Given the description of an element on the screen output the (x, y) to click on. 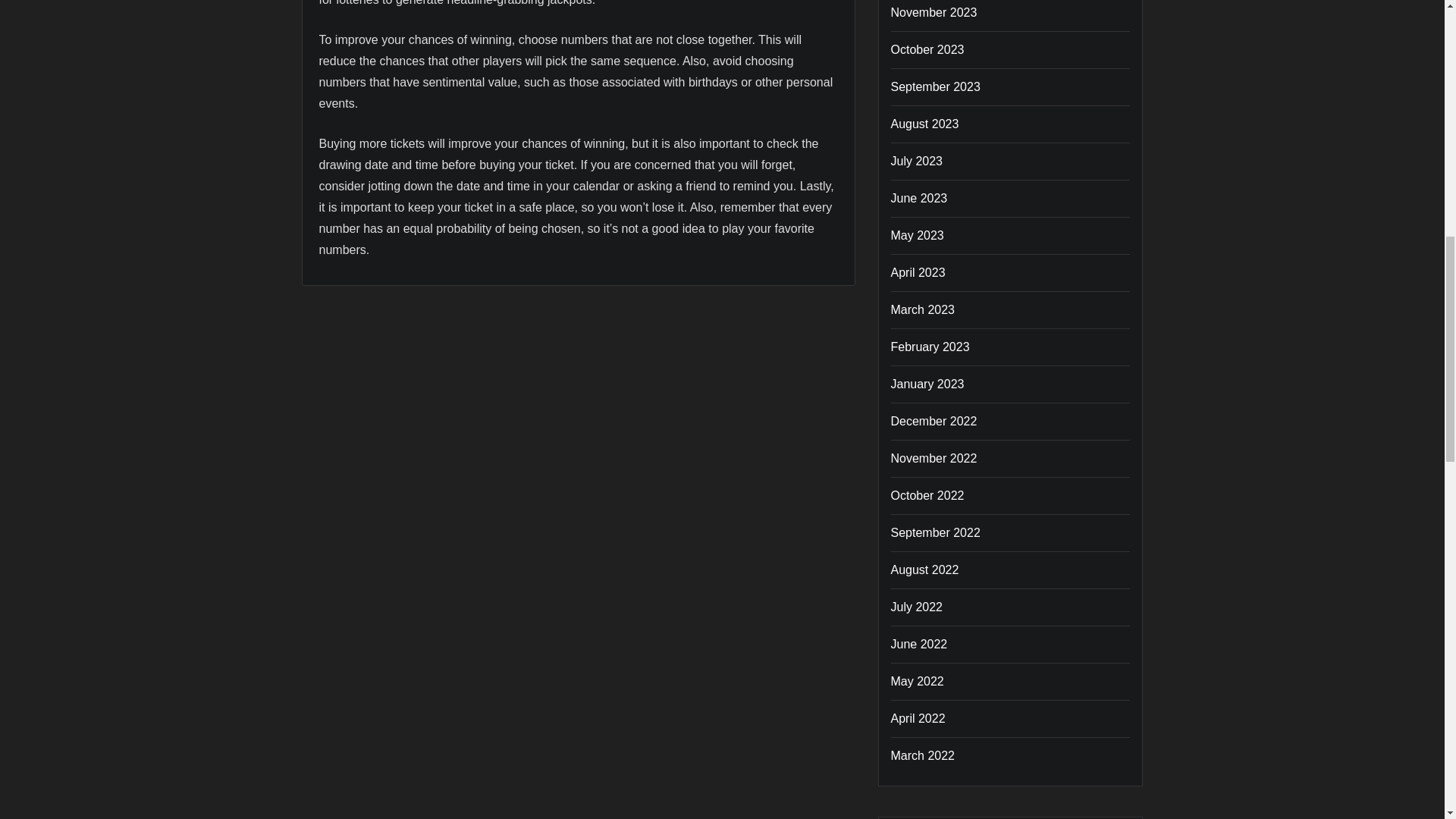
May 2023 (916, 235)
February 2023 (929, 346)
March 2022 (922, 755)
August 2023 (923, 123)
November 2022 (932, 458)
November 2023 (932, 11)
January 2023 (926, 383)
April 2023 (916, 272)
October 2023 (926, 49)
July 2022 (915, 606)
